Given the description of an element on the screen output the (x, y) to click on. 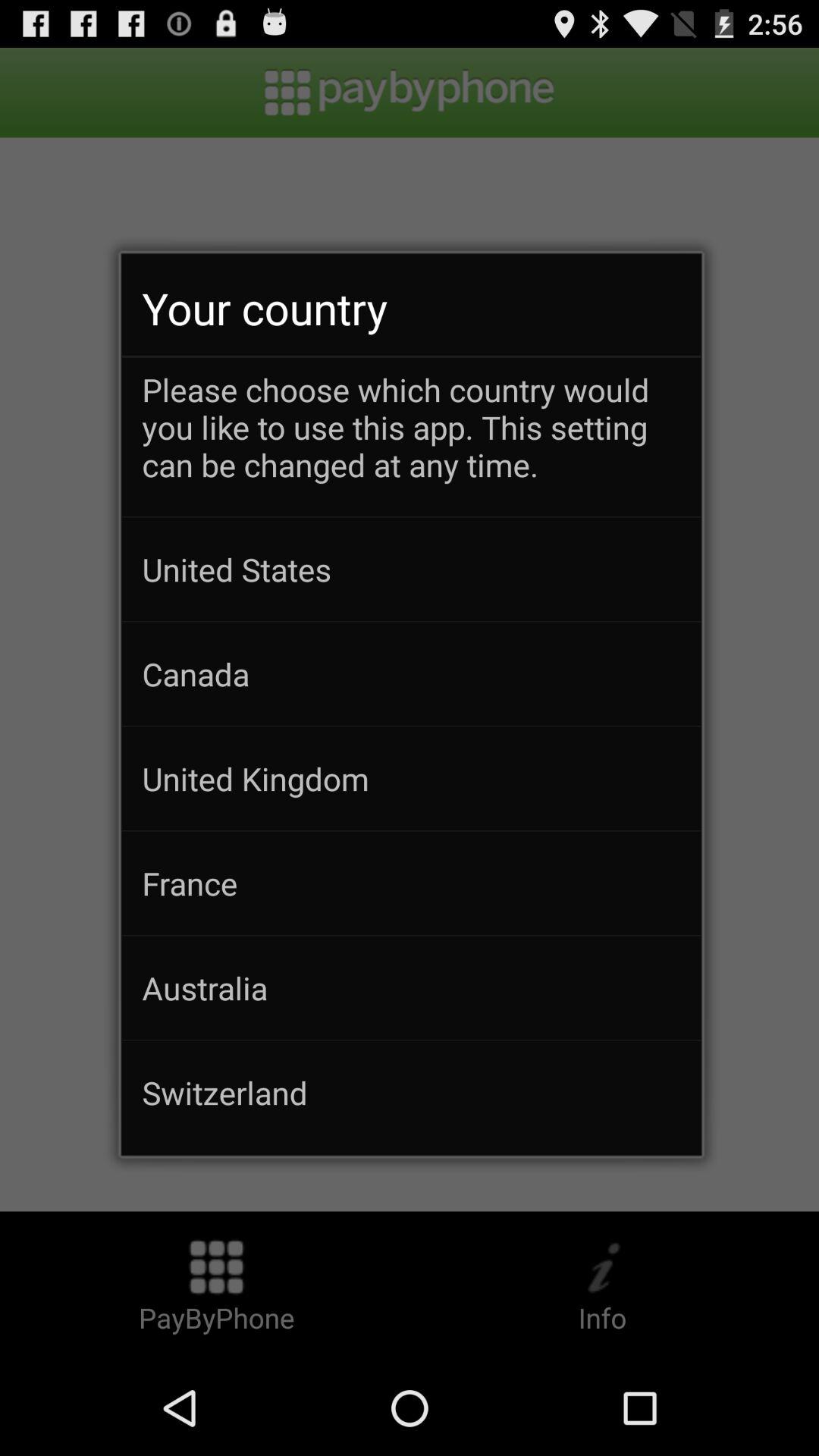
open australia item (411, 987)
